Given the description of an element on the screen output the (x, y) to click on. 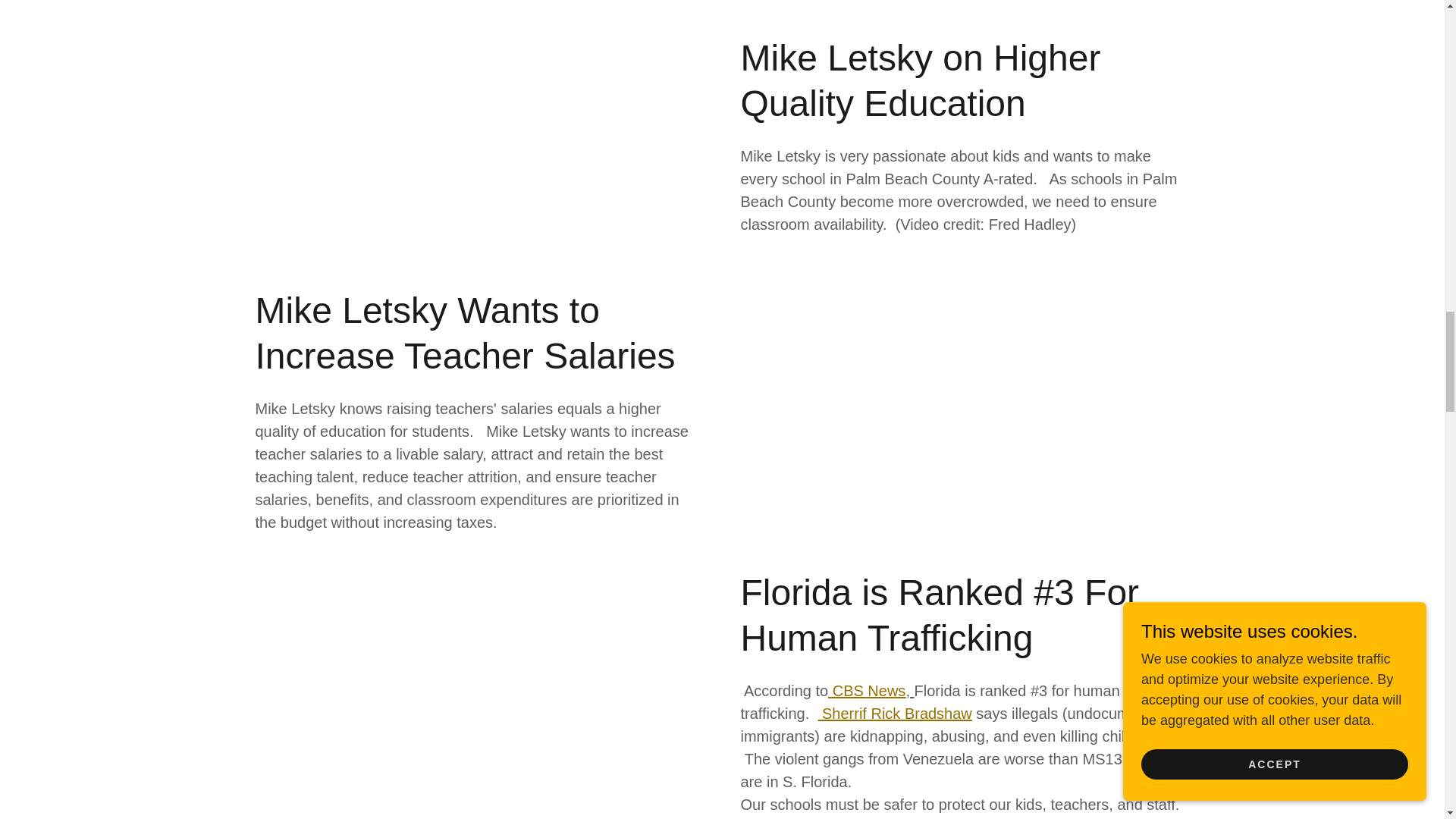
CBS News (866, 690)
 Sherrif Rick Bradshaw (893, 713)
